Given the description of an element on the screen output the (x, y) to click on. 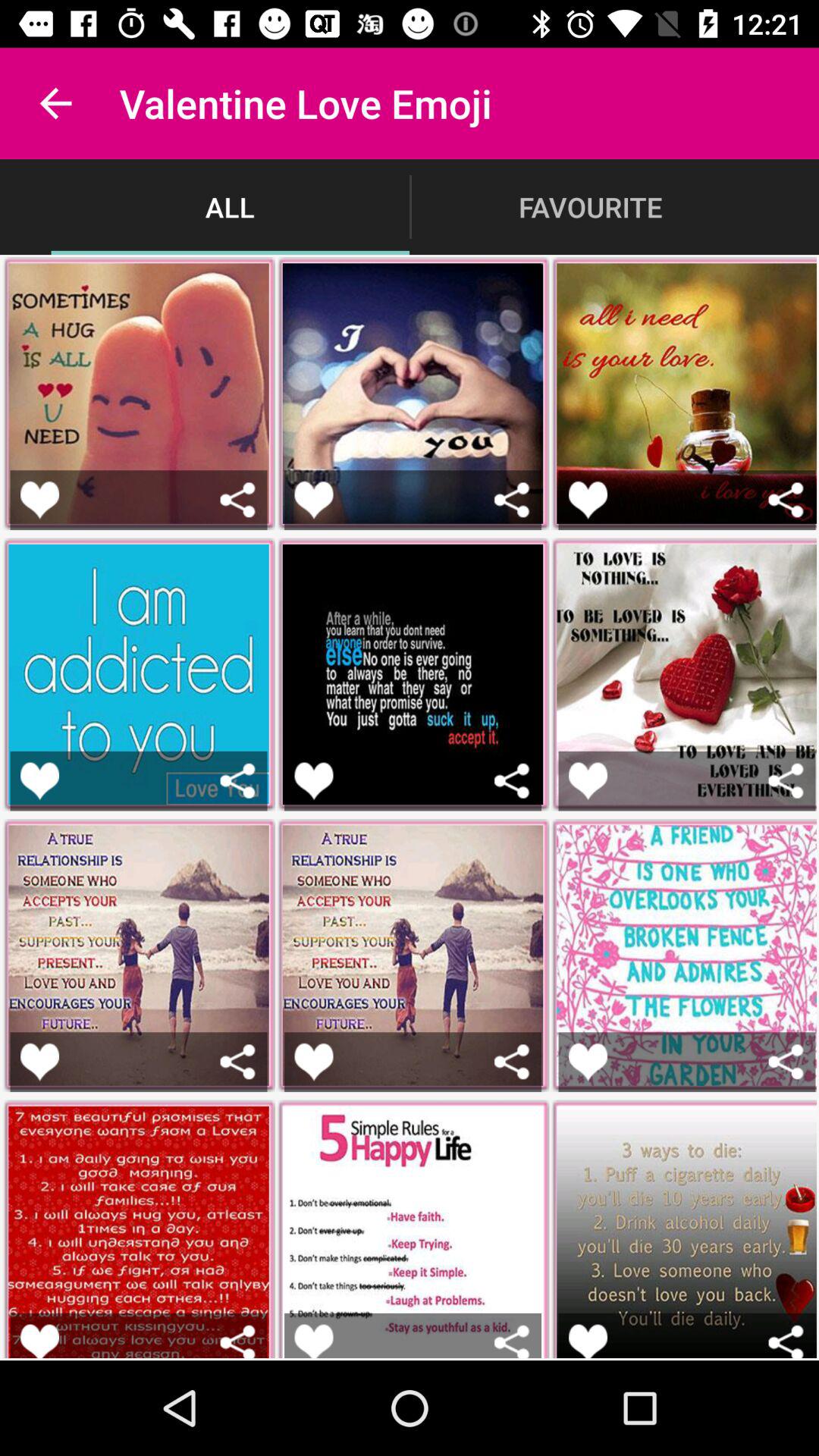
share the post (511, 499)
